Given the description of an element on the screen output the (x, y) to click on. 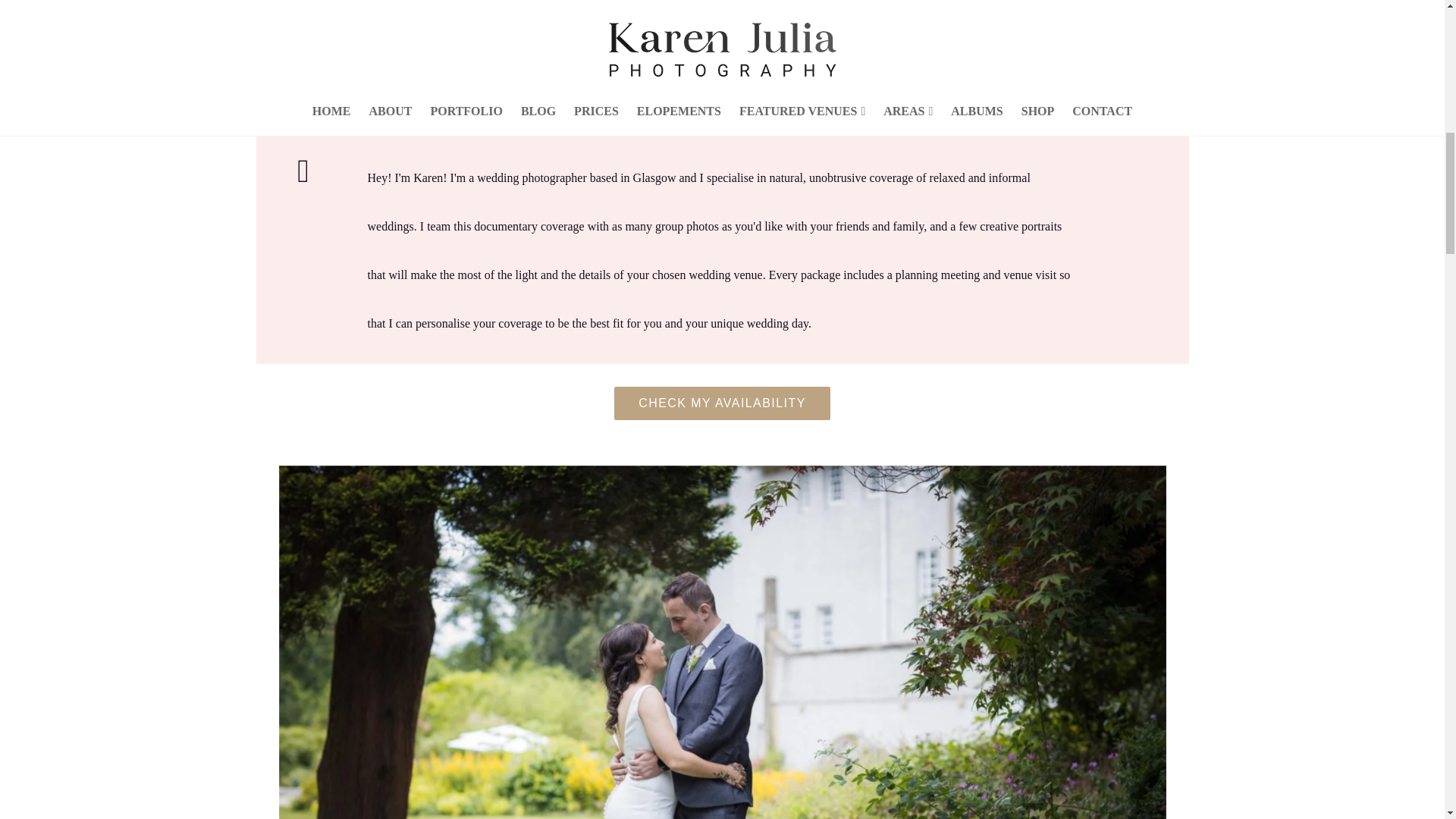
CHECK MY AVAILABILITY (721, 403)
